Given the description of an element on the screen output the (x, y) to click on. 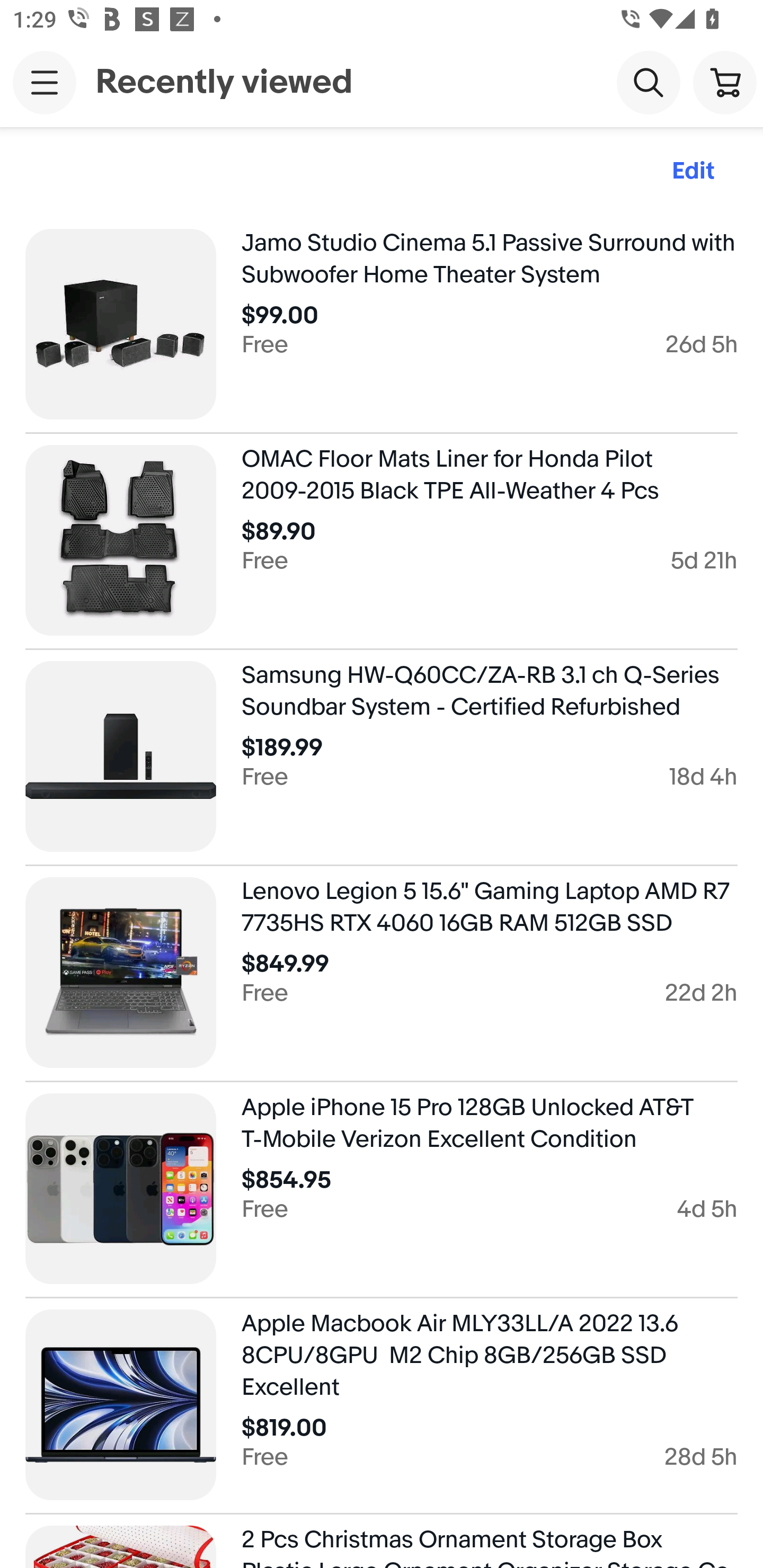
Main navigation, open (44, 82)
Search (648, 81)
Cart button shopping cart (724, 81)
Edit (693, 171)
